Given the description of an element on the screen output the (x, y) to click on. 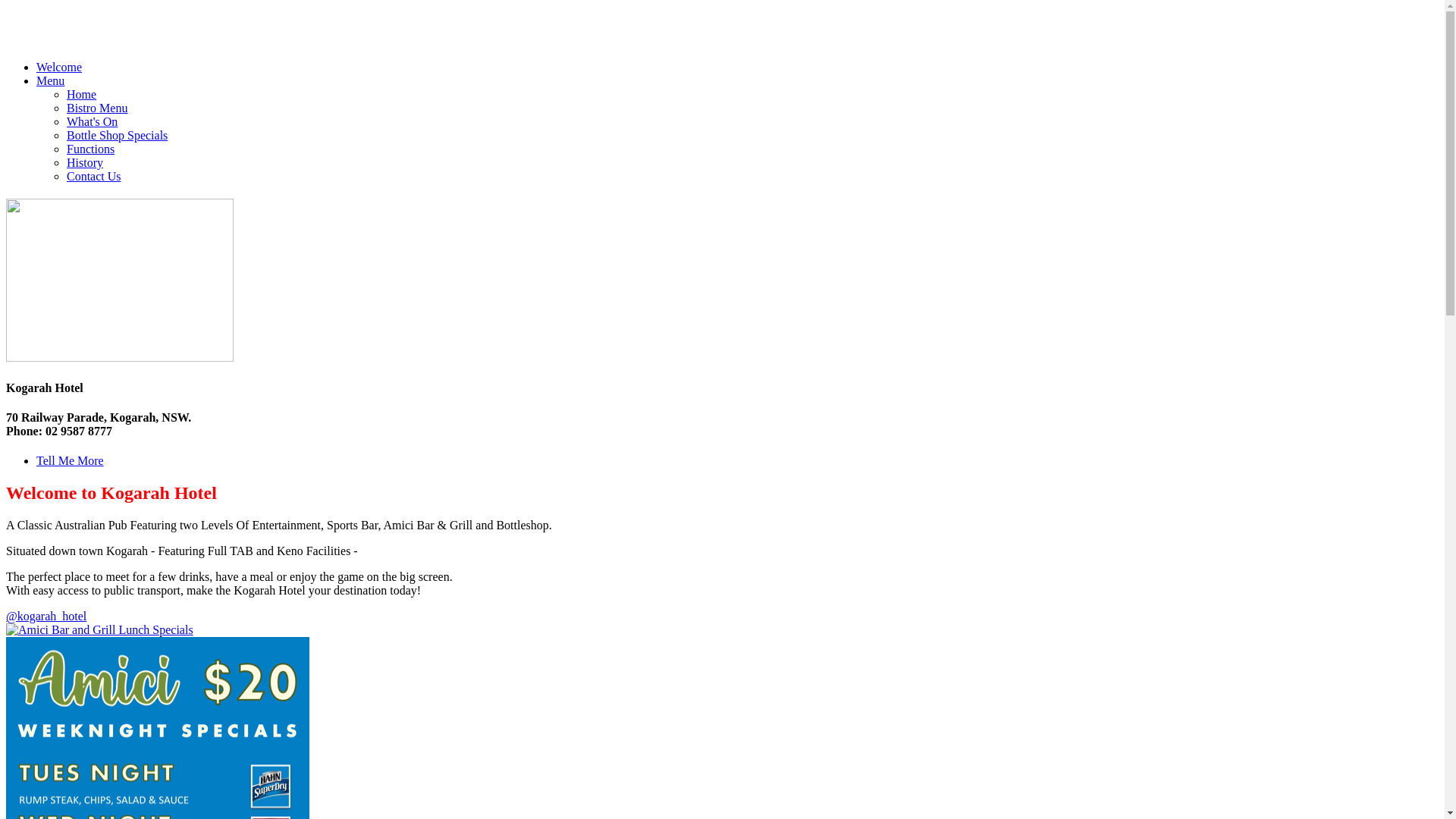
@kogarah_hotel Element type: text (46, 615)
History Element type: text (84, 162)
Menu Element type: text (50, 80)
Contact Us Element type: text (93, 175)
Home Element type: text (81, 93)
Bistro Menu Element type: text (96, 107)
What's On Element type: text (91, 121)
Welcome Element type: text (58, 66)
Functions Element type: text (90, 148)
Bottle Shop Specials Element type: text (116, 134)
Tell Me More Element type: text (69, 460)
